Given the description of an element on the screen output the (x, y) to click on. 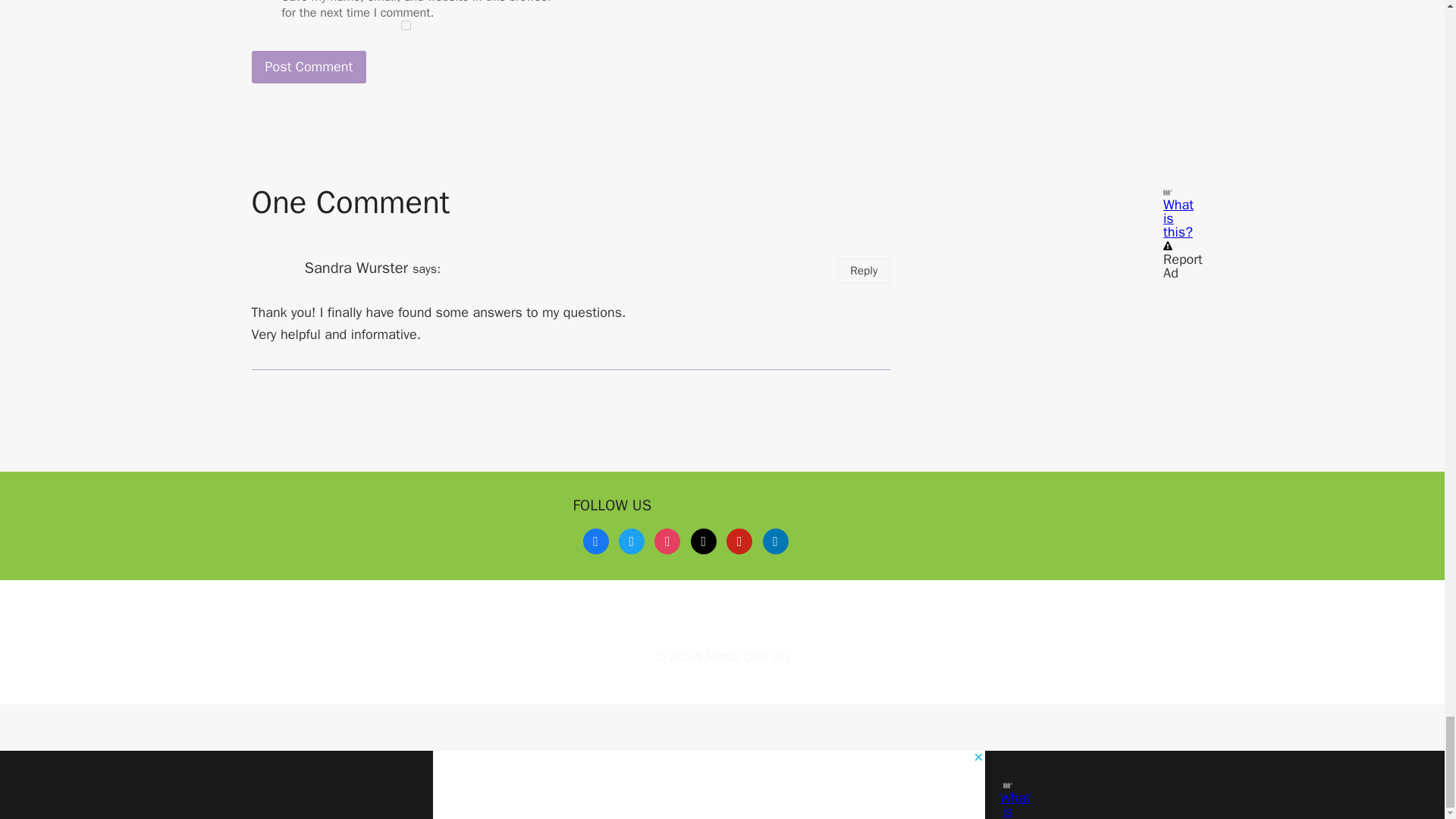
Facebook (595, 539)
Instagram (666, 539)
yes (405, 25)
3rd party ad content (1065, 92)
Post Comment (308, 66)
Twitter (631, 539)
